Given the description of an element on the screen output the (x, y) to click on. 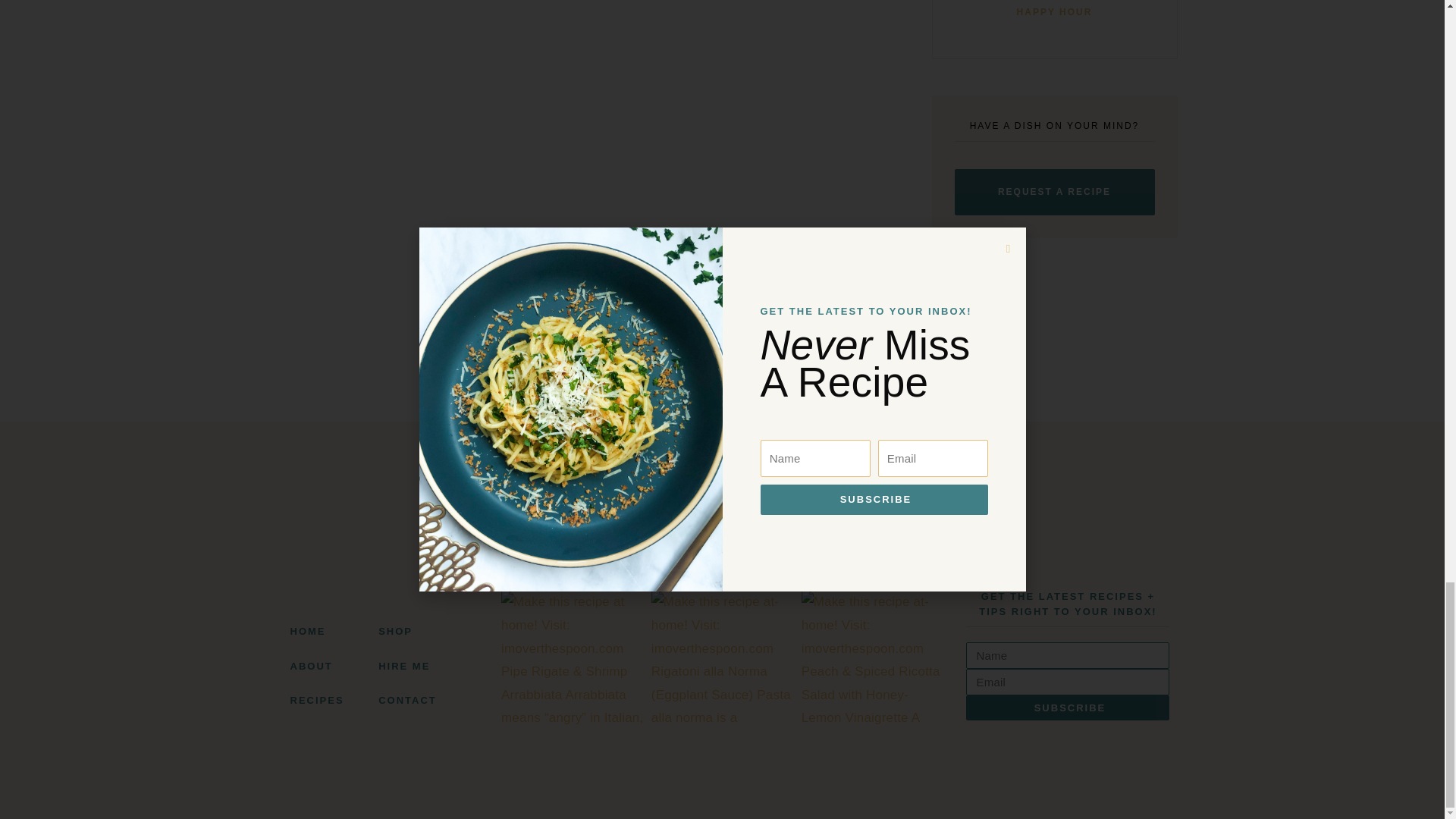
REQUEST A RECIPE (1053, 191)
SUBSCRIBE (1054, 13)
WHAT'S COOKIN' (1067, 681)
HAVE A DISH ON YOUR MIND? (420, 666)
On Instagram (722, 512)
